Given the description of an element on the screen output the (x, y) to click on. 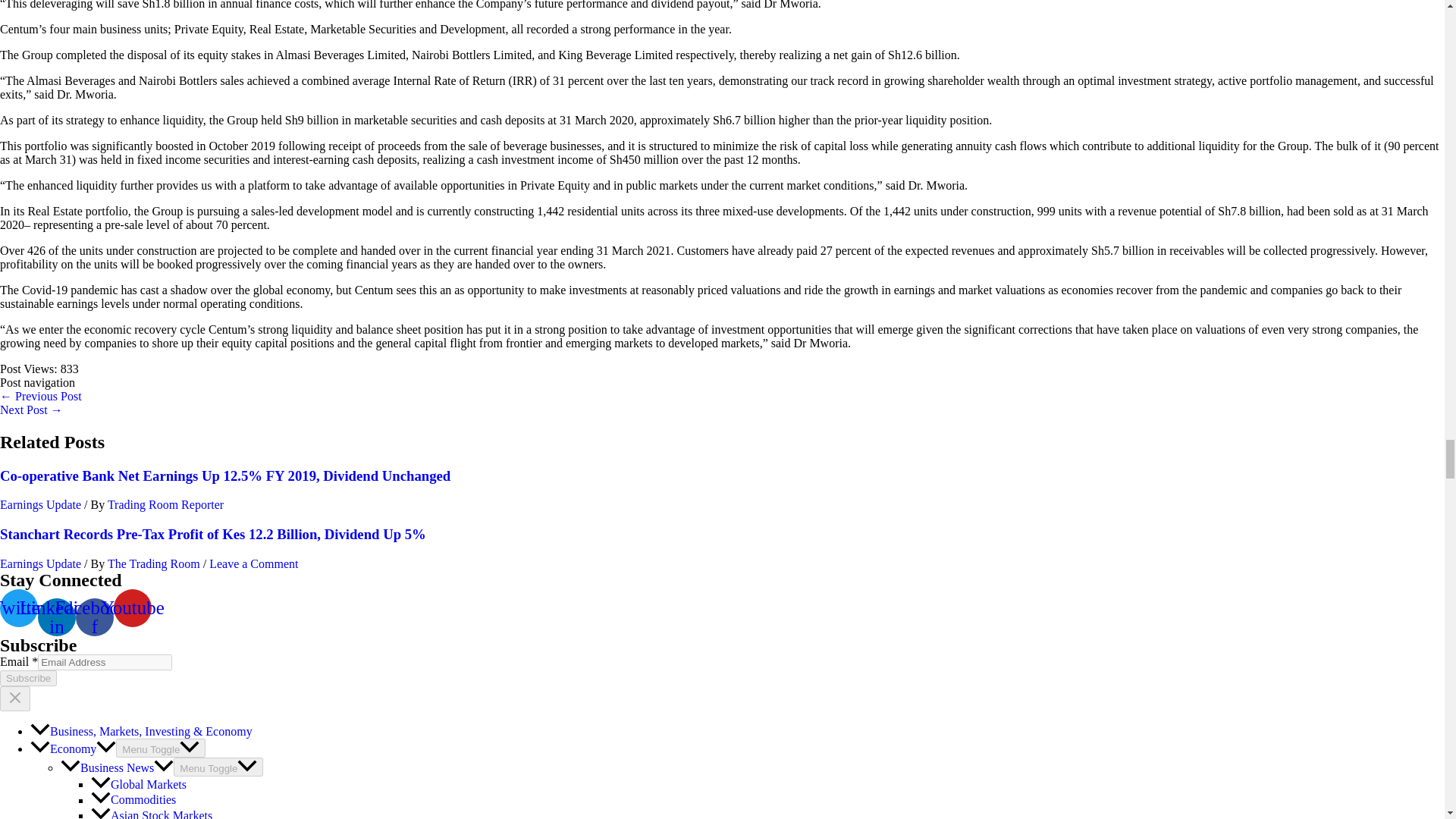
Leave a Comment (253, 563)
The Trading Room (155, 563)
View all posts by The Trading Room (155, 563)
Earnings Update (40, 504)
View all posts by Trading Room Reporter (165, 504)
Linkedin-in (56, 617)
Earnings Update (40, 563)
Trading Room Reporter (165, 504)
Facebook-f (94, 617)
Twitter (18, 607)
